Given the description of an element on the screen output the (x, y) to click on. 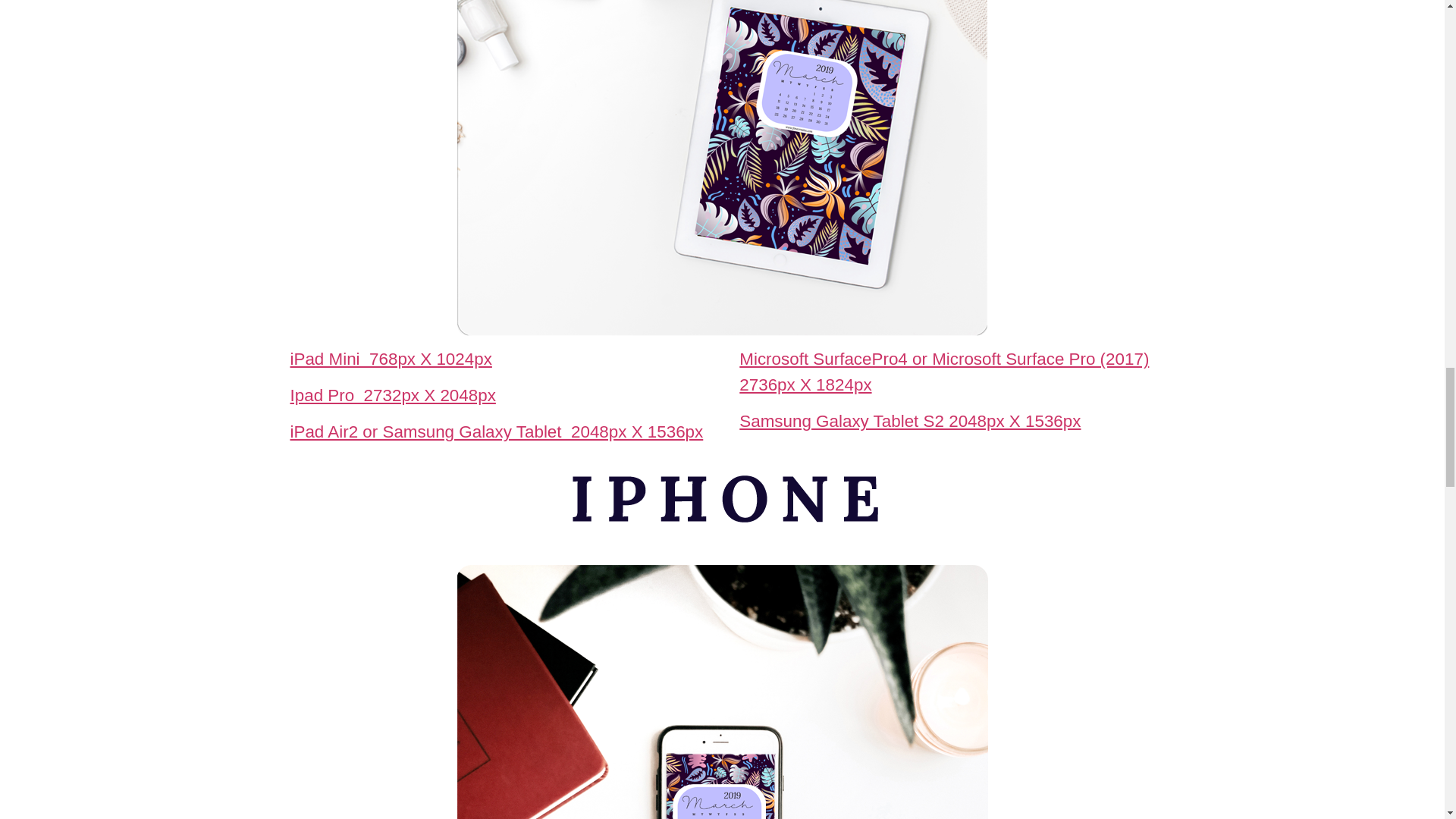
Ipad Pro  2732px X 2048px (392, 394)
iPad Air2 or Samsung Galaxy Tablet  2048px X 1536px (496, 431)
Samsung Galaxy Tablet S2 2048px X 1536px (909, 420)
iPad Mini  768px X 1024px (390, 358)
